Given the description of an element on the screen output the (x, y) to click on. 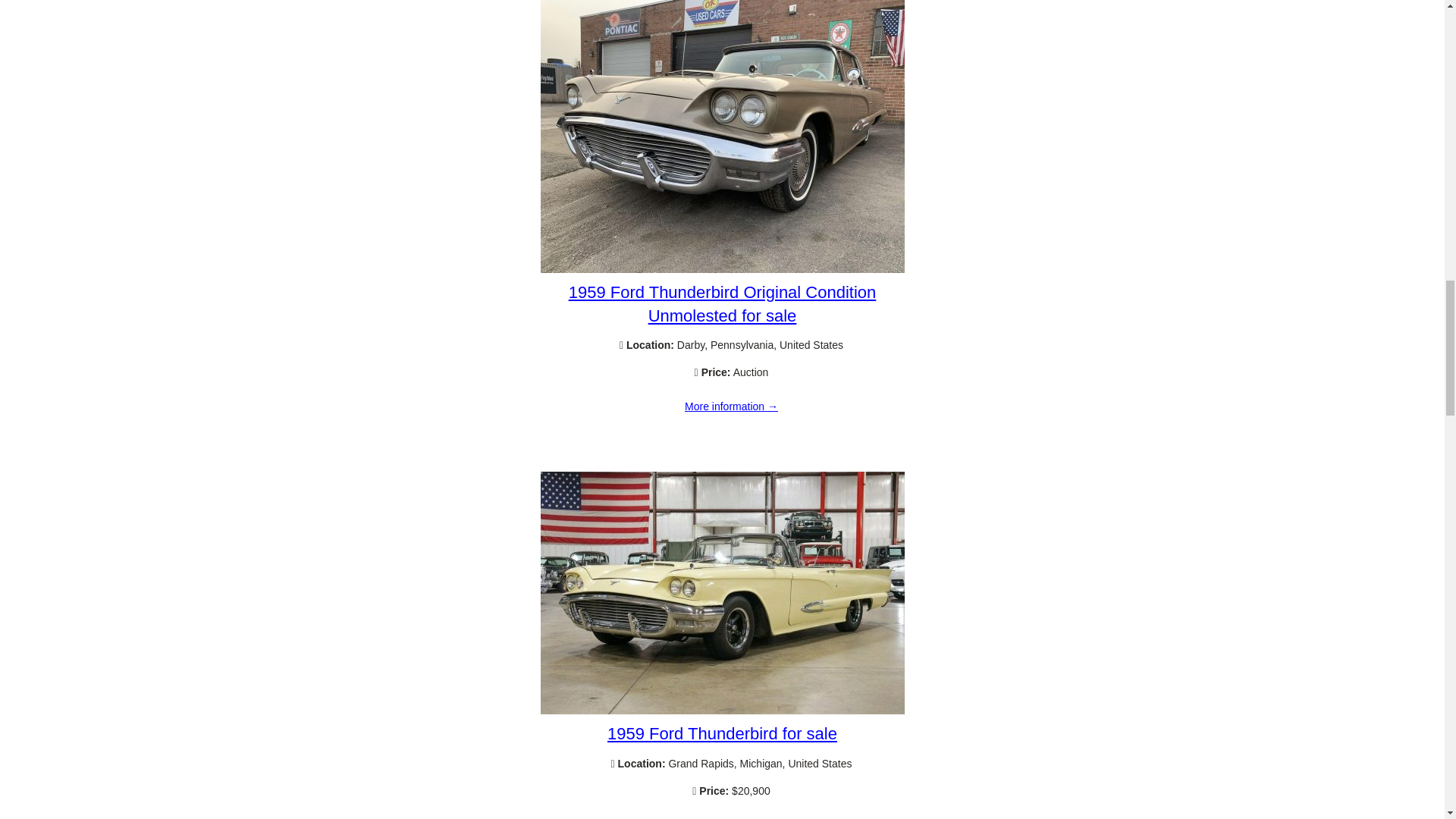
1959 Ford Thunderbird for sale (722, 732)
1959 Ford Thunderbird Original Condition Unmolested for sale (722, 268)
1959 Ford Thunderbird for sale (731, 815)
1959 Ford Thunderbird for sale (722, 710)
1959 Ford Thunderbird Original Condition Unmolested for sale (731, 407)
1959 Ford Thunderbird Original Condition Unmolested for sale (722, 303)
